Given the description of an element on the screen output the (x, y) to click on. 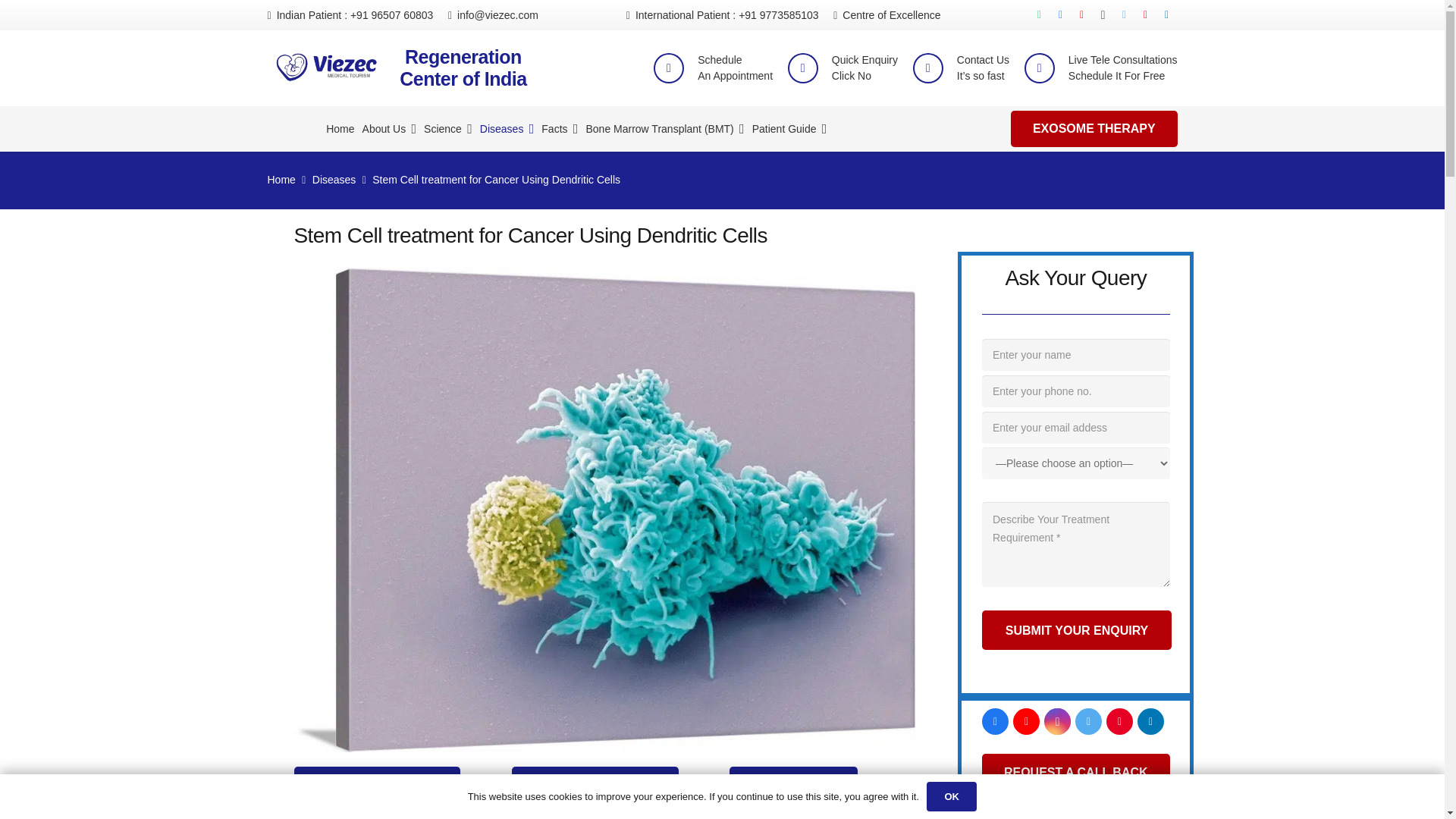
Home (339, 128)
Contact Us (1075, 771)
Submit Your Enquiry (1076, 630)
Twitter (1088, 721)
YouTube (864, 68)
WhatsApp (1122, 68)
Facebook (462, 67)
About Us (1026, 721)
YouTube (735, 68)
Facebook (1039, 14)
LinkedIn (995, 721)
